Given the description of an element on the screen output the (x, y) to click on. 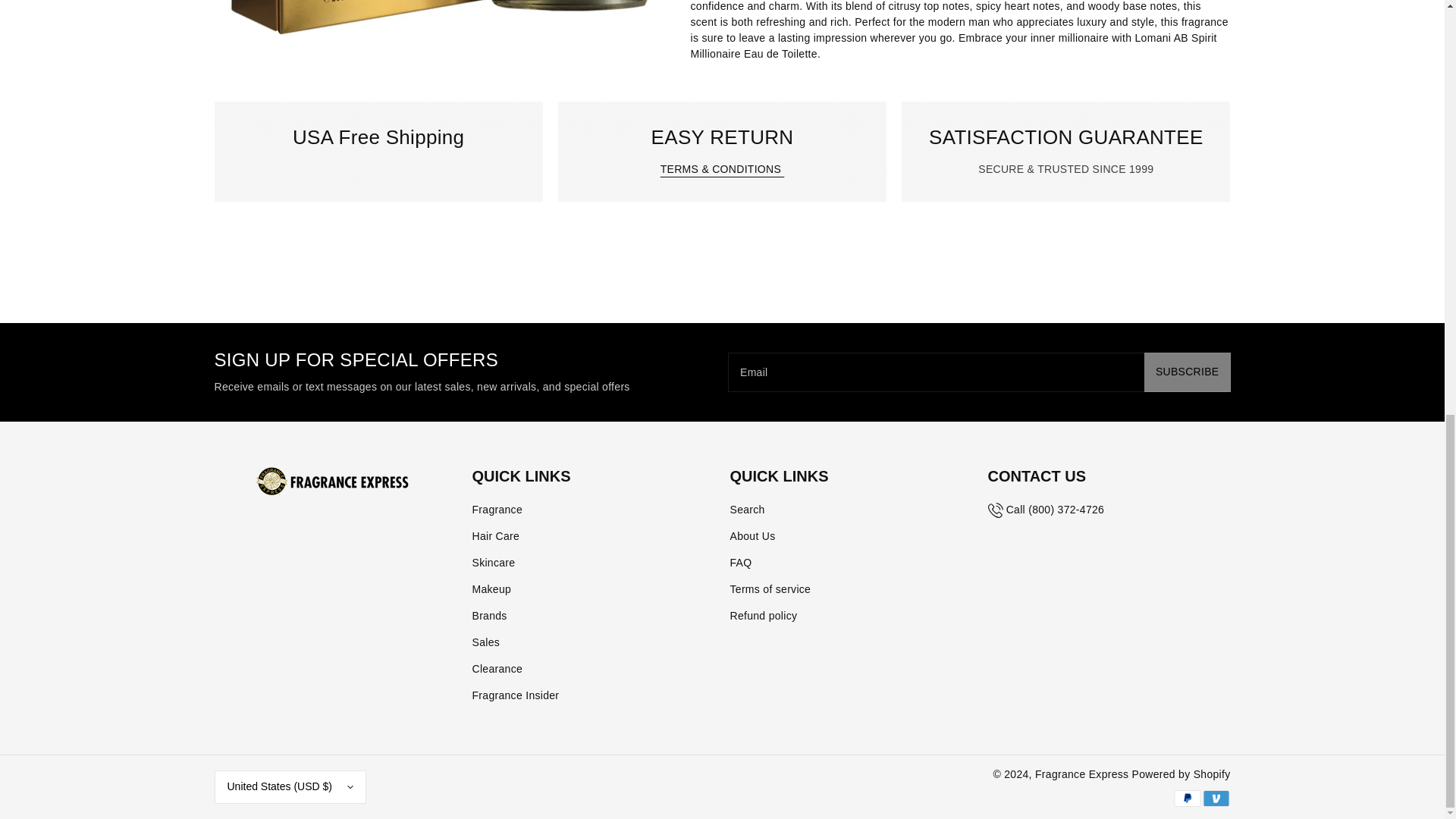
Venmo (1215, 798)
PayPal (1186, 798)
